Given the description of an element on the screen output the (x, y) to click on. 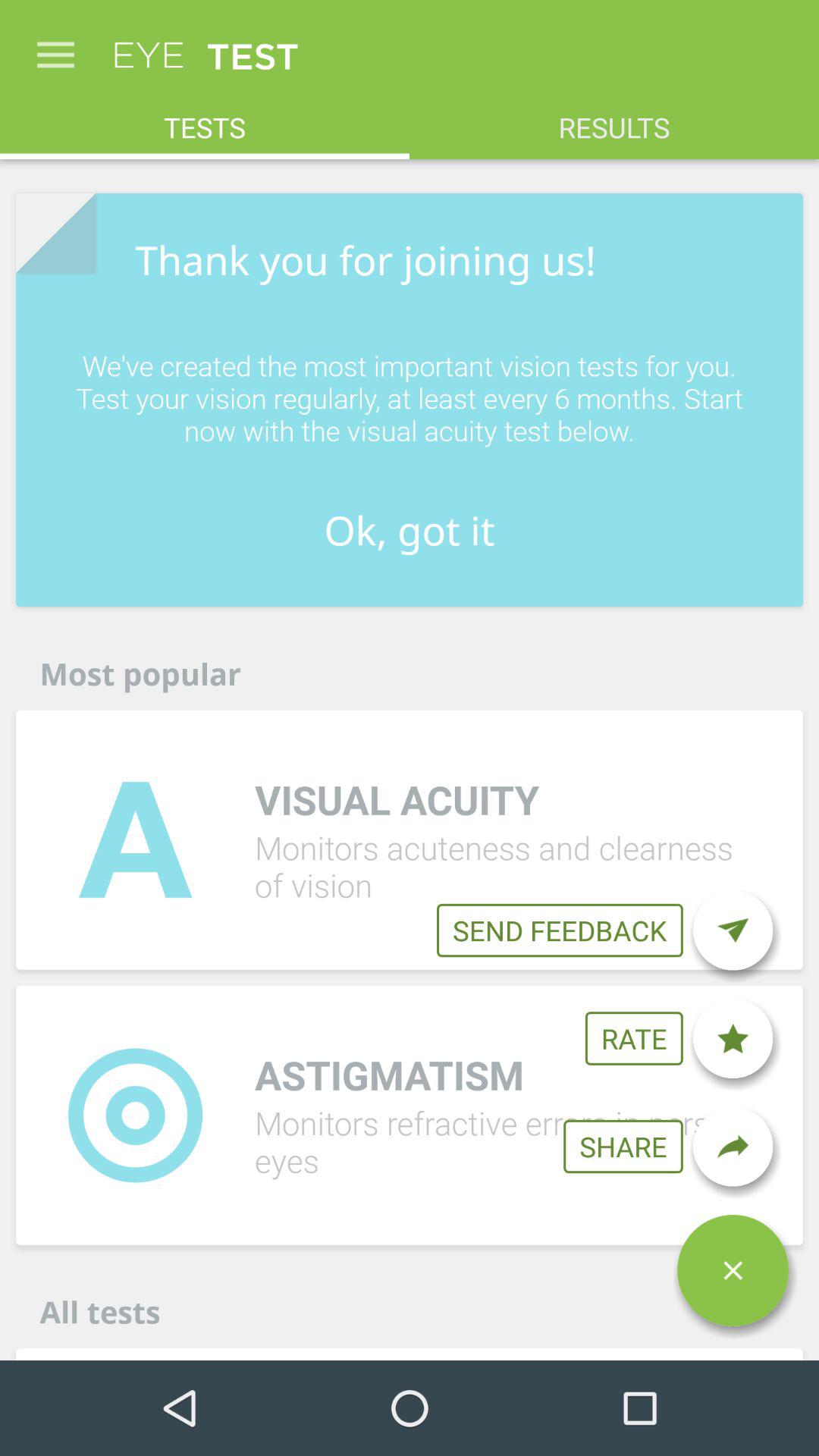
send a feedback (733, 930)
